Given the description of an element on the screen output the (x, y) to click on. 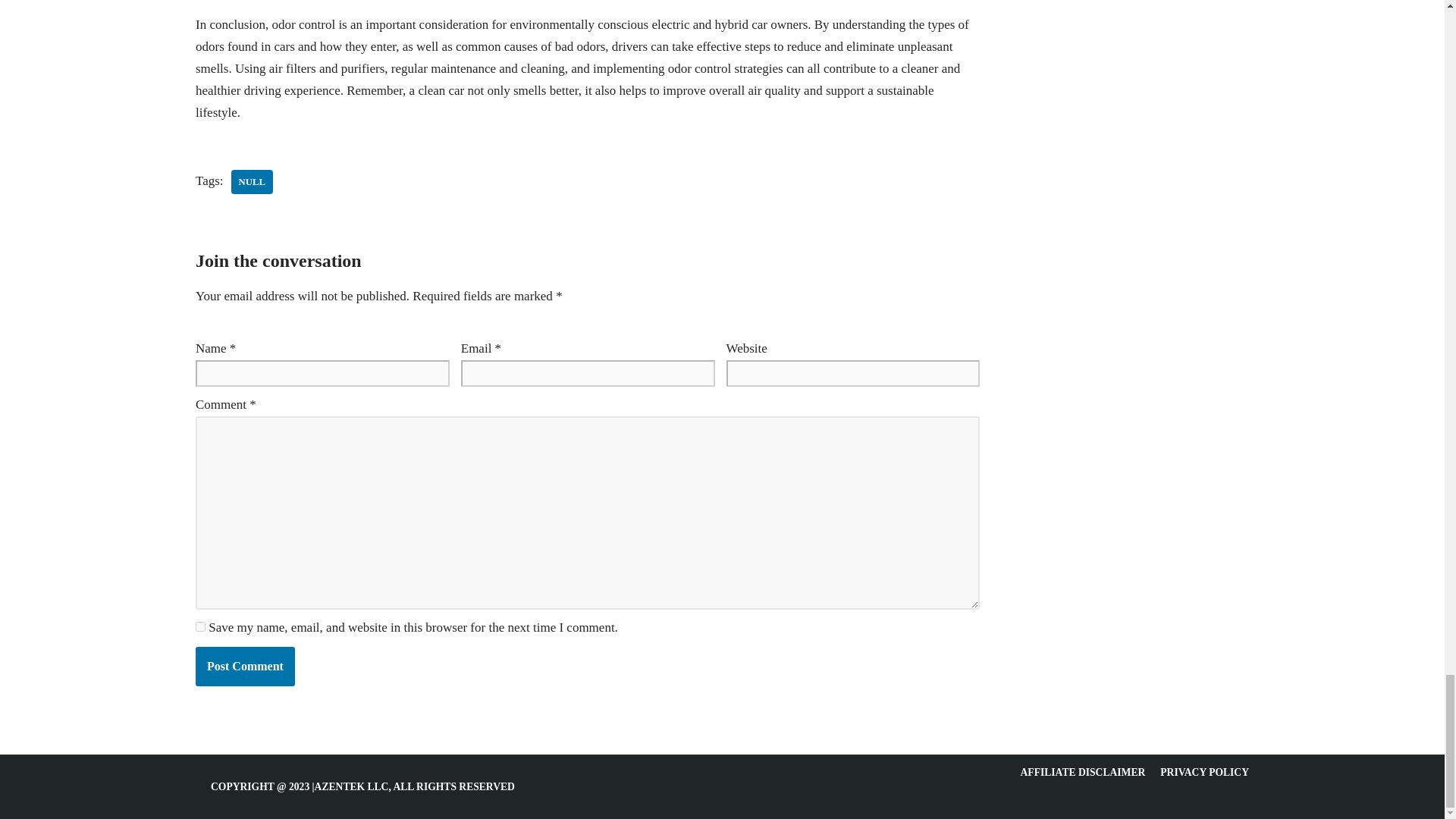
yes (200, 626)
NULL (252, 181)
Post Comment (245, 666)
Post Comment (245, 666)
